Given the description of an element on the screen output the (x, y) to click on. 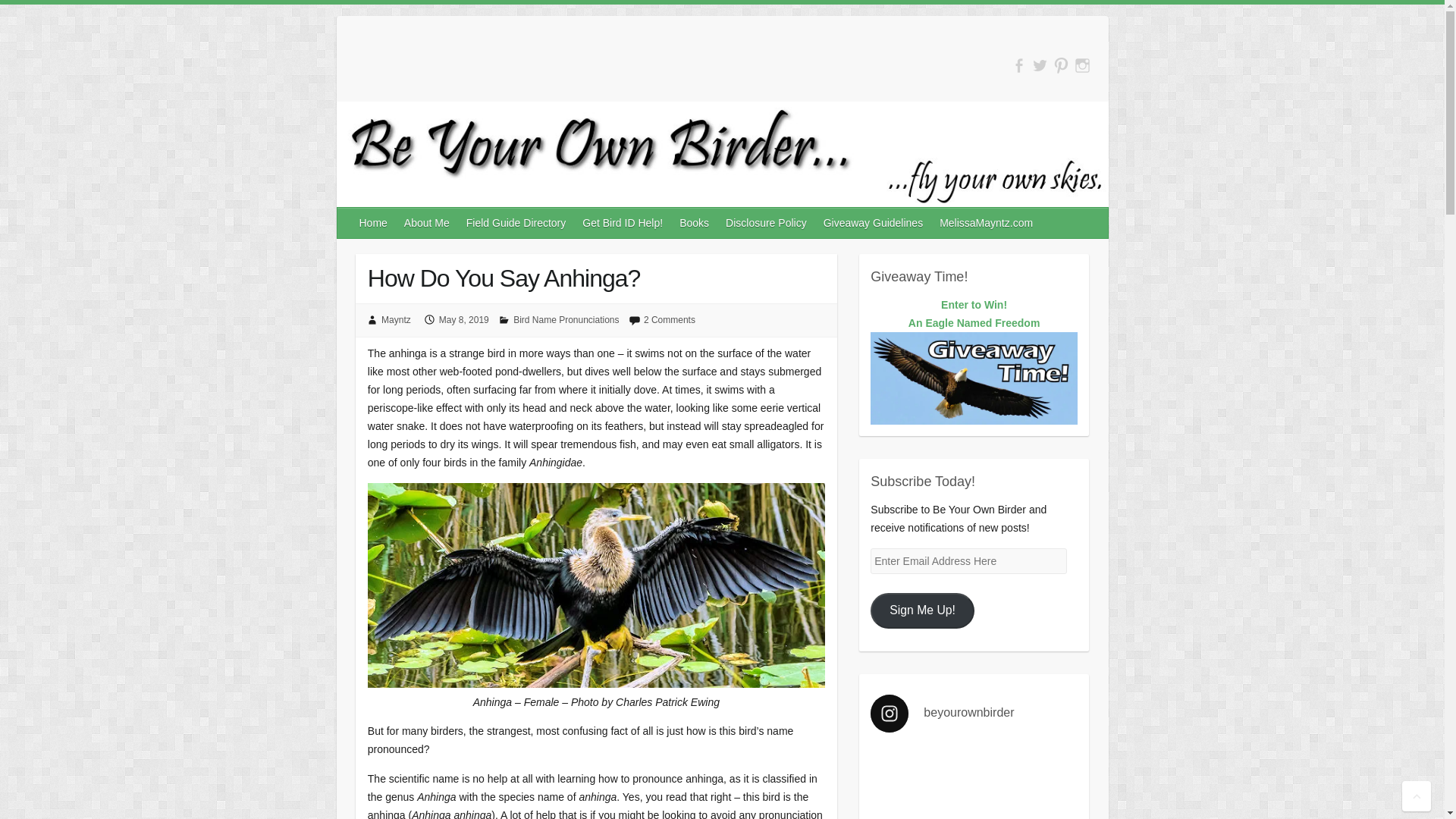
beyourownbirder (973, 322)
Disclosure Policy (973, 713)
Giveaway Guidelines (766, 223)
Be Your Own Birder on Pinterest (874, 223)
MelissaMayntz.com (1061, 65)
Books (986, 223)
Be Your Own Birder on Facebook (694, 223)
Be Your Own Birder on Instagram (1019, 65)
Sign Me Up! (1082, 65)
